Given the description of an element on the screen output the (x, y) to click on. 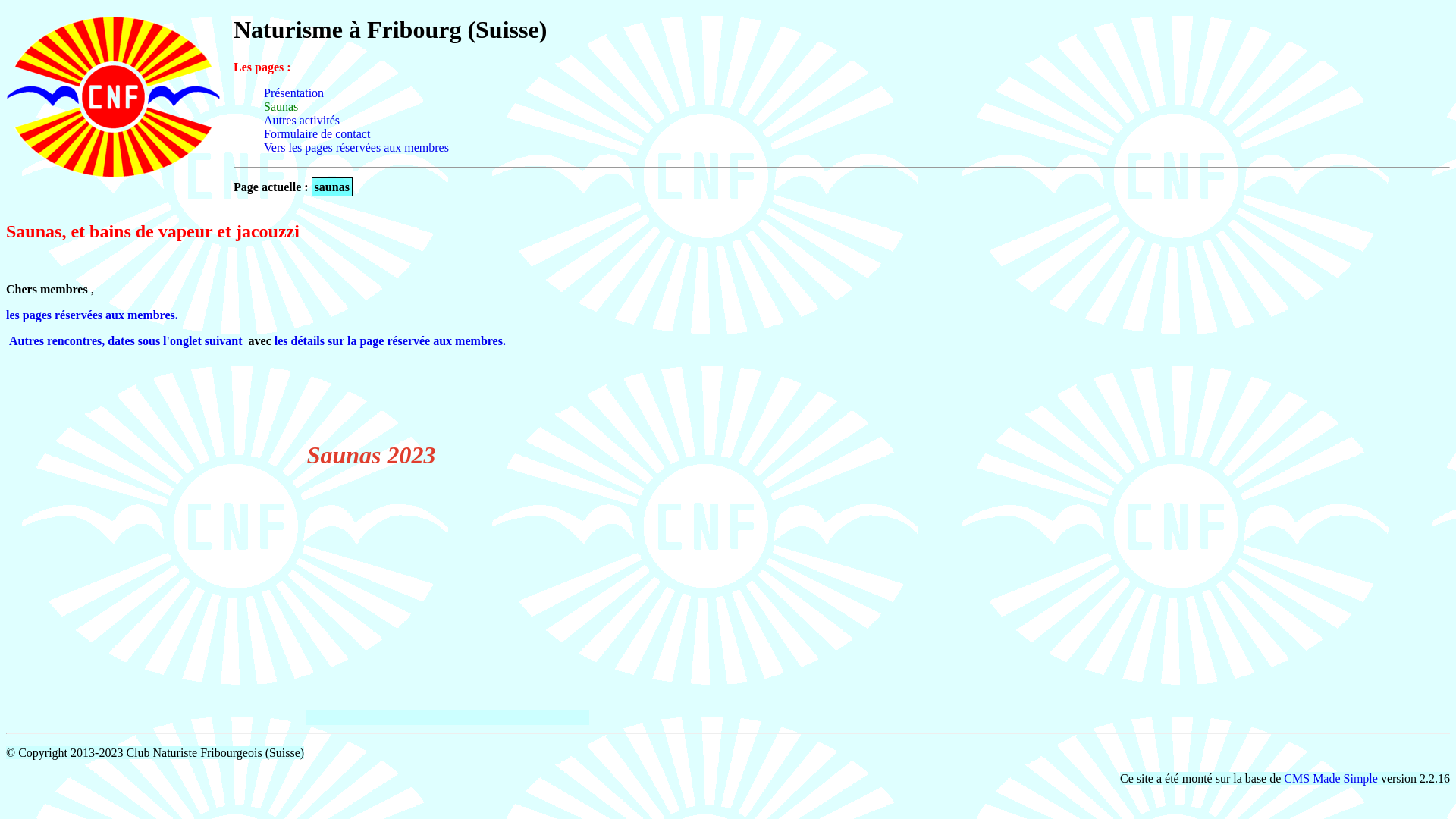
Saunas Element type: text (280, 106)
CMS Made Simple Element type: text (1330, 777)
Autres rencontres, dates sous l'onglet suivant  Element type: text (127, 340)
Formulaire de contact Element type: text (316, 133)
